Given the description of an element on the screen output the (x, y) to click on. 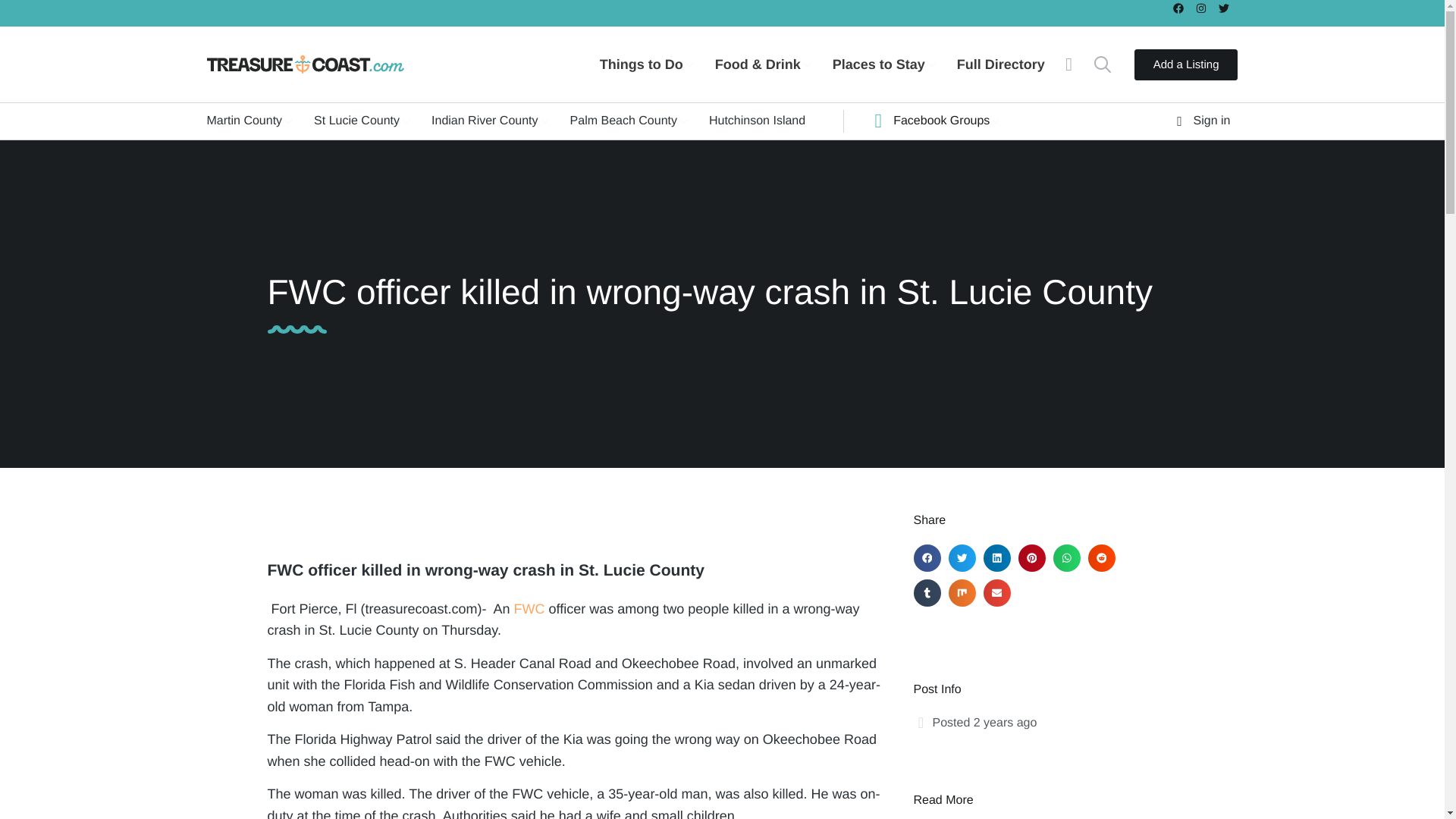
Facebook Groups (944, 120)
